Given the description of an element on the screen output the (x, y) to click on. 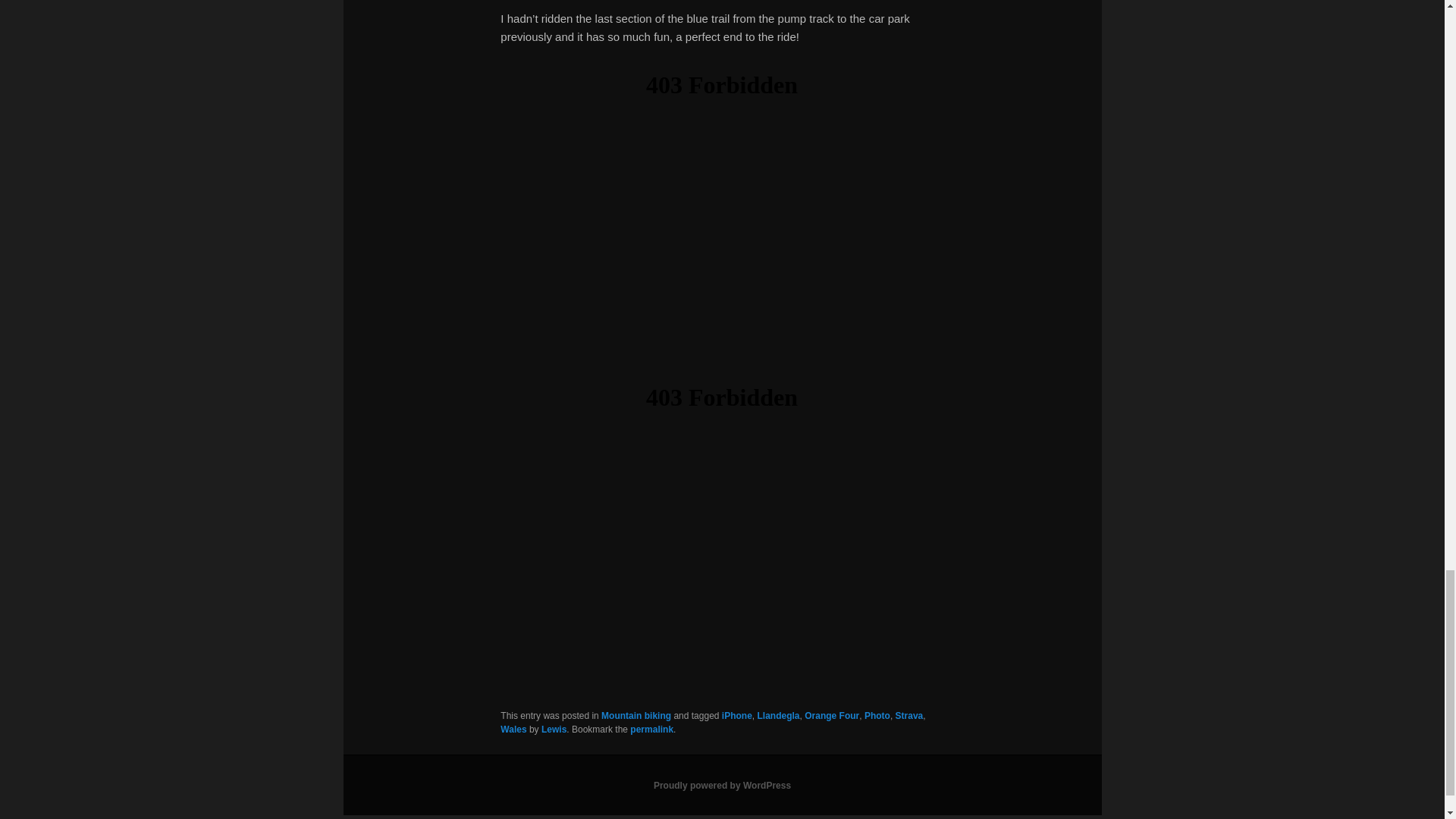
Semantic Personal Publishing Platform (721, 785)
Orange Four (832, 715)
Strava (909, 715)
Lewis (553, 728)
Llandegla (778, 715)
Proudly powered by WordPress (721, 785)
Mountain biking (636, 715)
Wales (512, 728)
iPhone (737, 715)
permalink (651, 728)
Photo (876, 715)
